Given the description of an element on the screen output the (x, y) to click on. 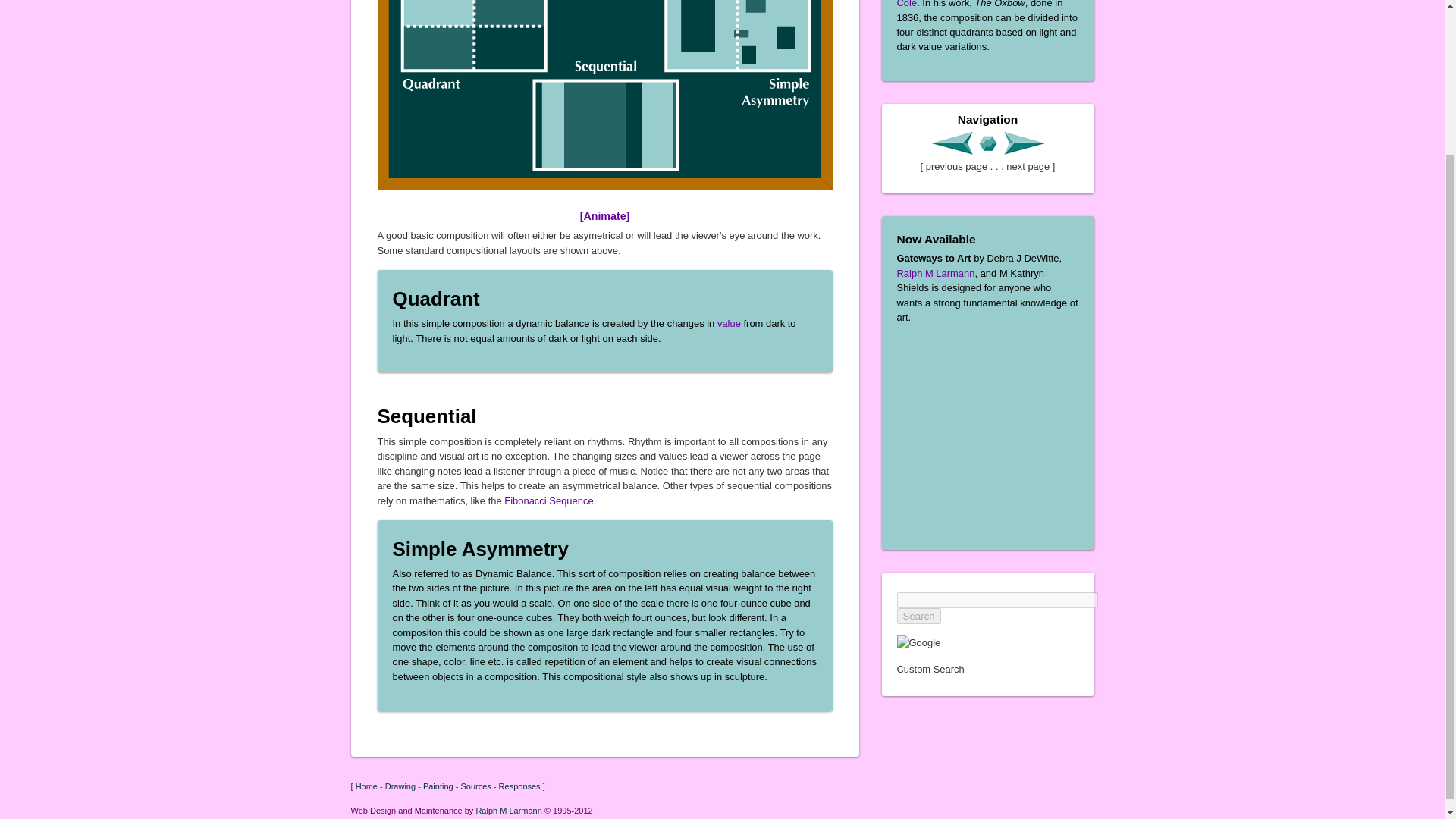
Thomas Cole (980, 4)
Home (366, 786)
Fibonacci Sequence (547, 500)
Sequential (427, 415)
Quadrant (436, 298)
Responses (519, 786)
Search (918, 616)
Painting (437, 786)
value (729, 323)
Sources (475, 786)
Drawing (399, 786)
Ralph M Larmann (935, 273)
Ralph M Larmann (508, 809)
Search (918, 616)
Simple Asymmetry (481, 547)
